Given the description of an element on the screen output the (x, y) to click on. 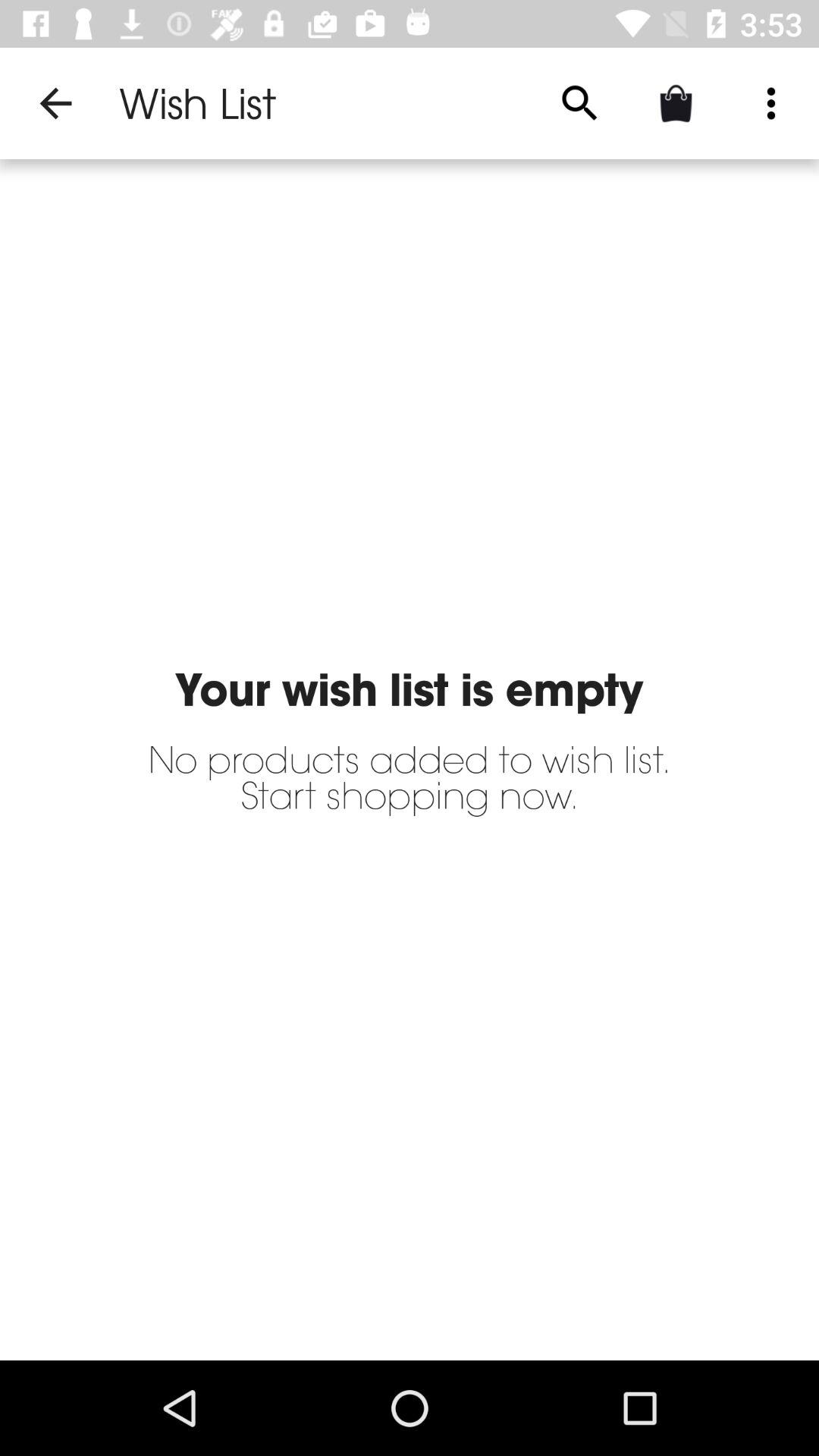
open the icon to the right of wish list app (579, 103)
